Given the description of an element on the screen output the (x, y) to click on. 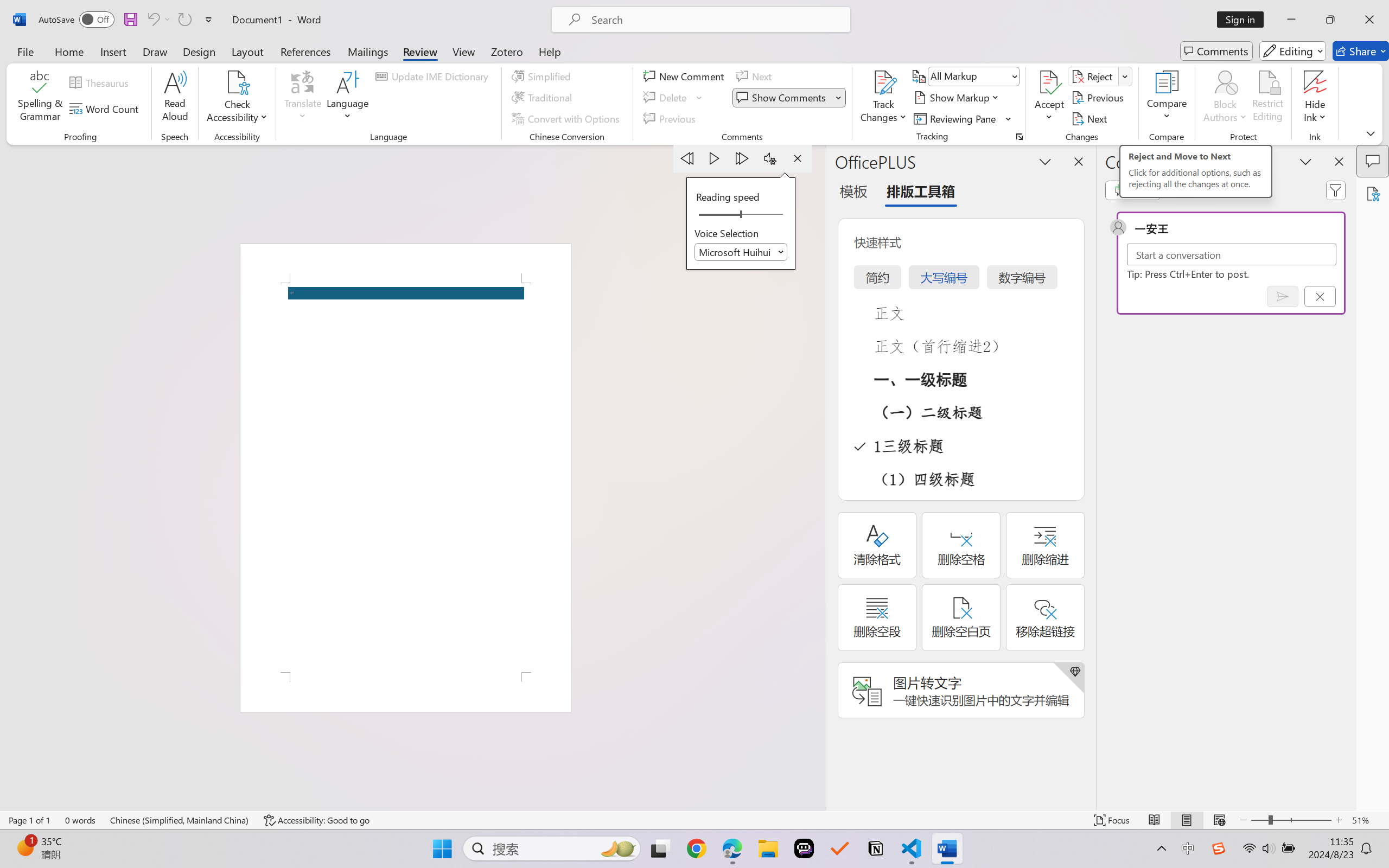
Undo Apply Quick Style Set (158, 19)
Check Accessibility (237, 97)
Next Paragraph (743, 158)
Reject and Move to Next (1093, 75)
